Given the description of an element on the screen output the (x, y) to click on. 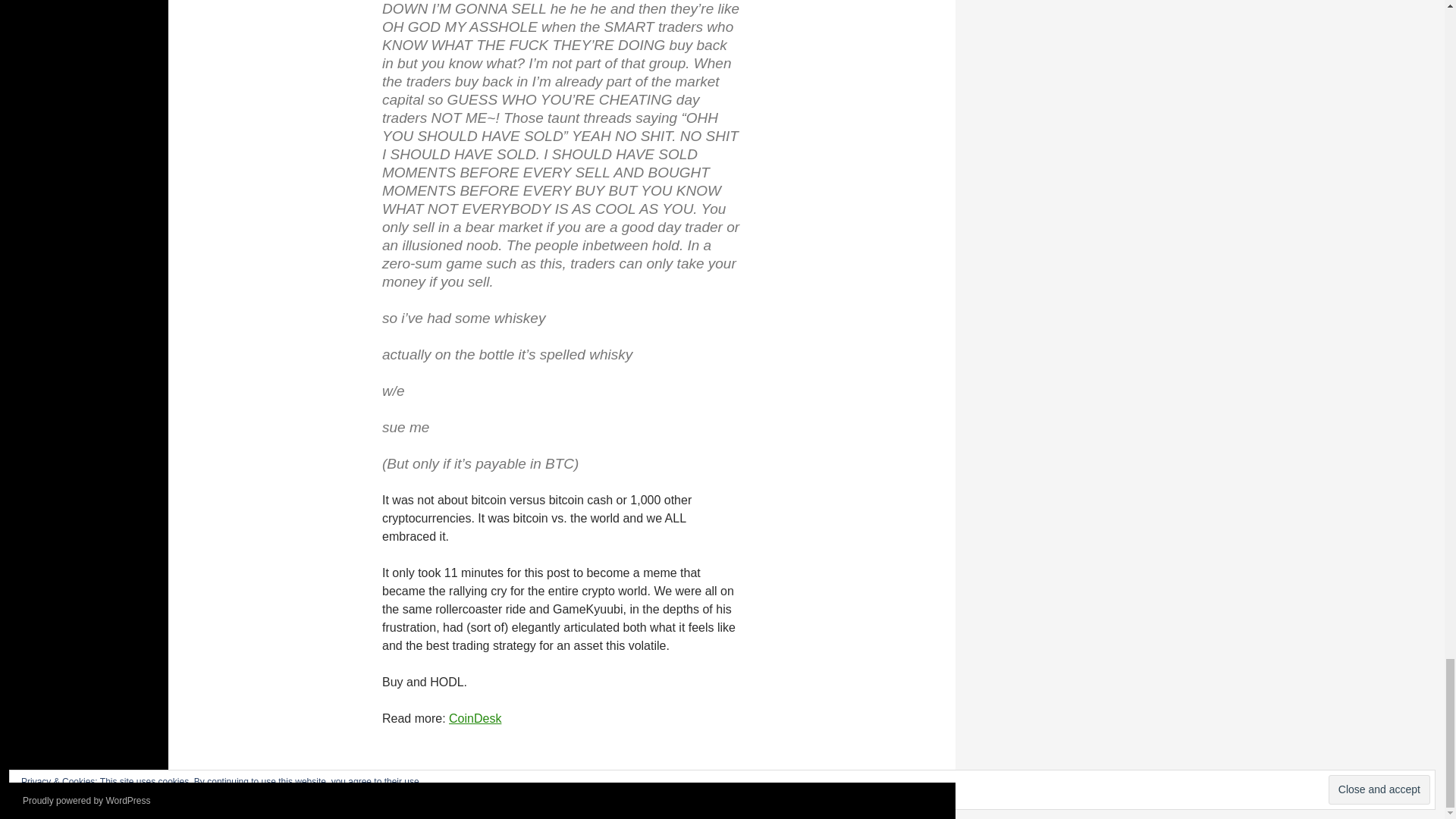
CoinDesk (474, 717)
